Given the description of an element on the screen output the (x, y) to click on. 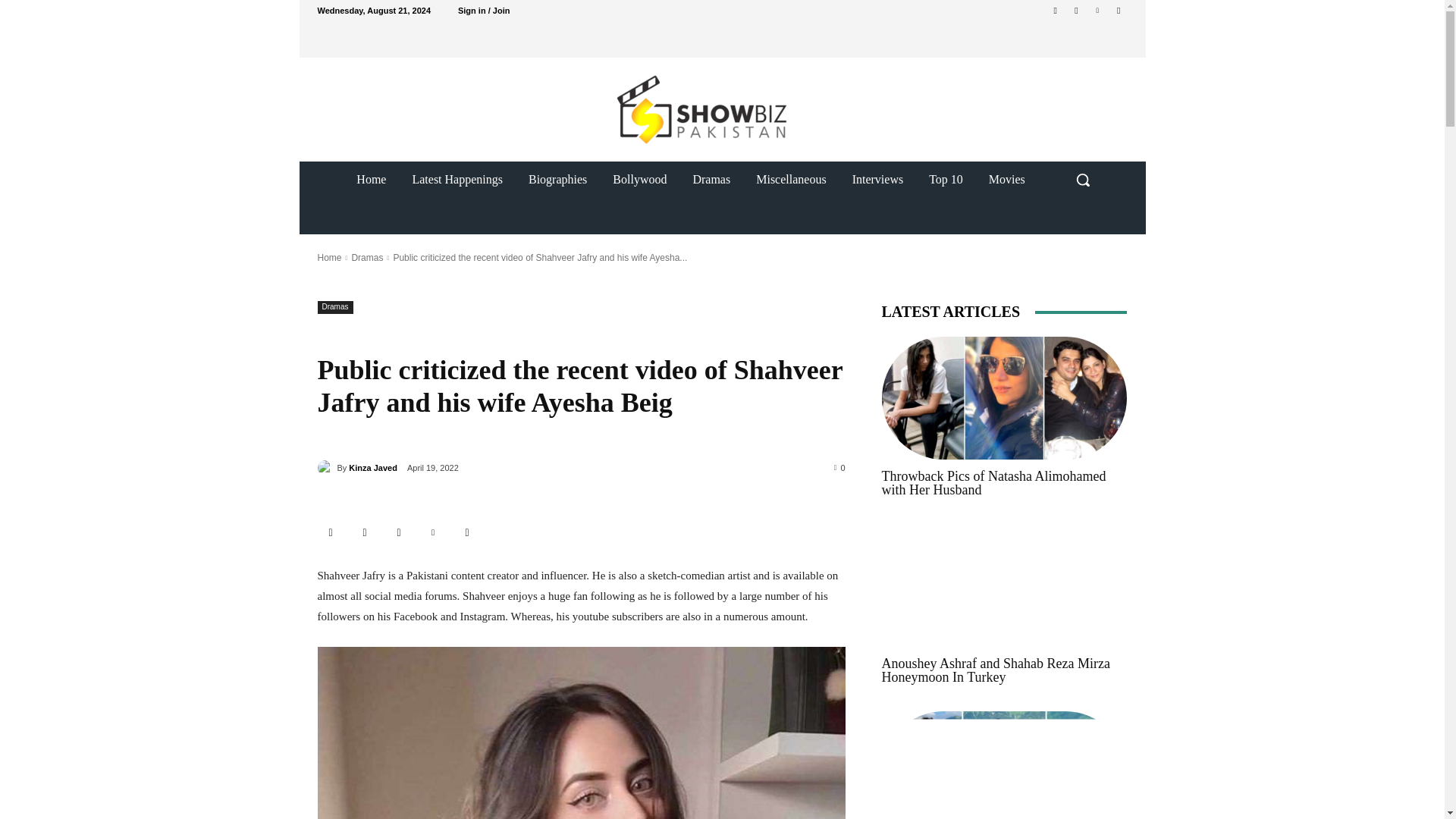
Kinza Javed (373, 467)
Pinterest (1097, 9)
Instagram (1075, 9)
View all posts in Dramas (366, 257)
Kinza Javed (326, 467)
Share (330, 532)
0 (839, 466)
Latest Happenings (456, 179)
Facebook (365, 532)
Instagram (398, 532)
